Given the description of an element on the screen output the (x, y) to click on. 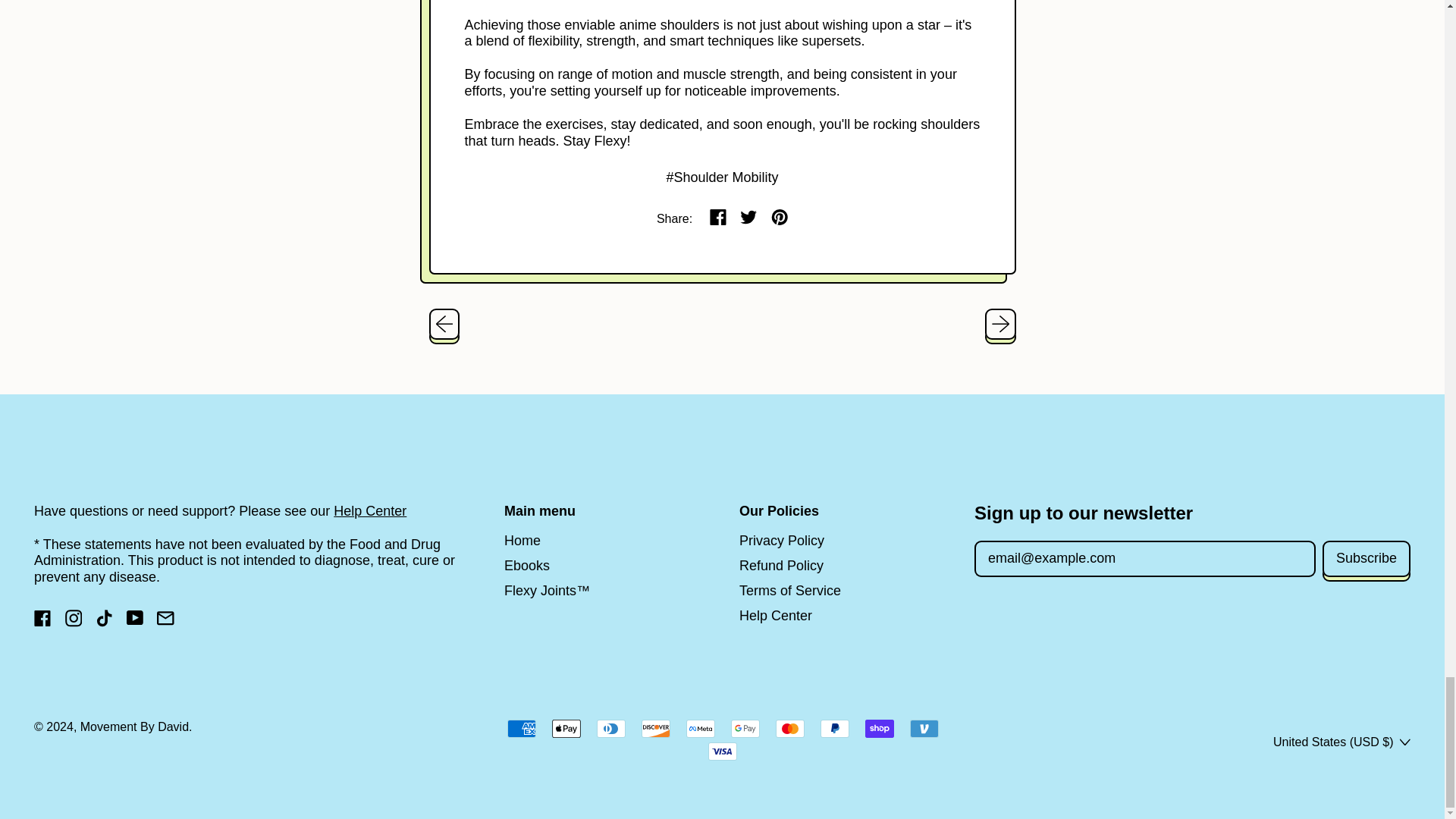
TikTok (104, 622)
Movement By David (134, 726)
Refund Policy (781, 565)
Help Center (369, 510)
Instagram (73, 622)
Terms of Service (790, 590)
Email (165, 622)
Privacy Policy (781, 540)
Home (521, 540)
Subscribe (1366, 559)
Pin on Pinterest (779, 218)
Help Center (775, 615)
YouTube (133, 622)
Ebooks (526, 565)
Facebook (41, 622)
